Given the description of an element on the screen output the (x, y) to click on. 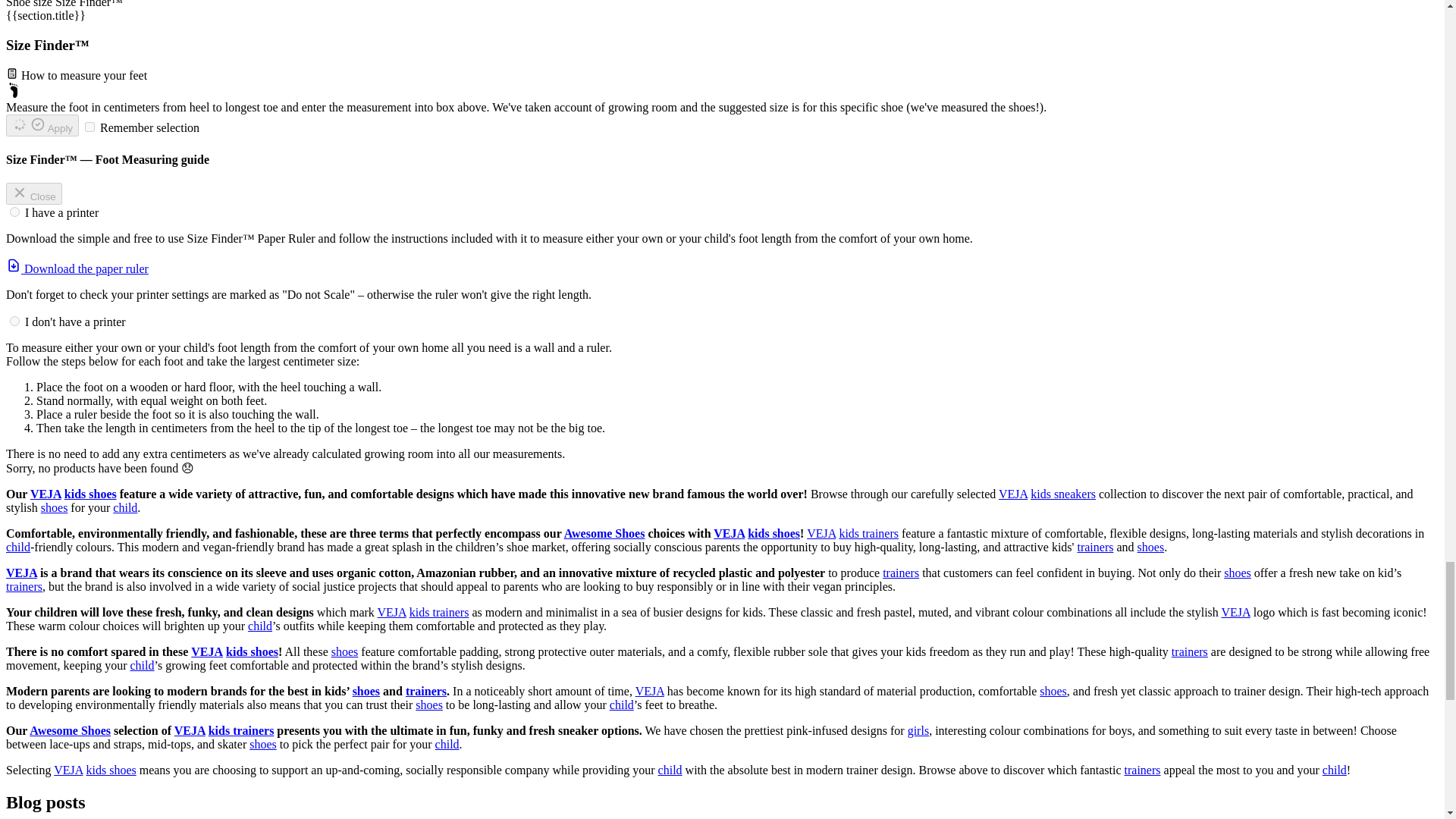
kids shoes (90, 493)
no-printer (15, 320)
VEJA (21, 572)
Download the paper ruler (76, 268)
shoes (54, 507)
kids trainers (868, 533)
VEJA (45, 493)
Apply (41, 125)
VEJA (728, 533)
child (124, 507)
